Given the description of an element on the screen output the (x, y) to click on. 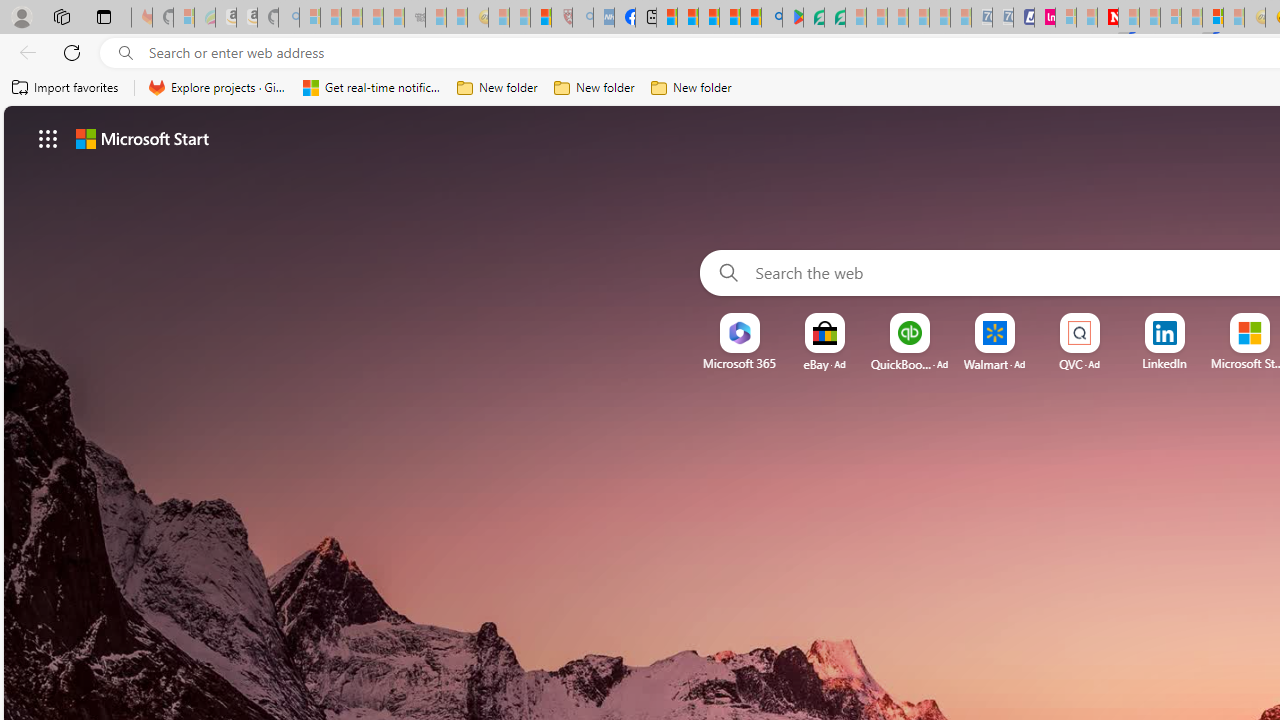
Import favorites (65, 88)
New folder (691, 88)
Microsoft start (142, 138)
The Weather Channel - MSN - Sleeping (351, 17)
